Given the description of an element on the screen output the (x, y) to click on. 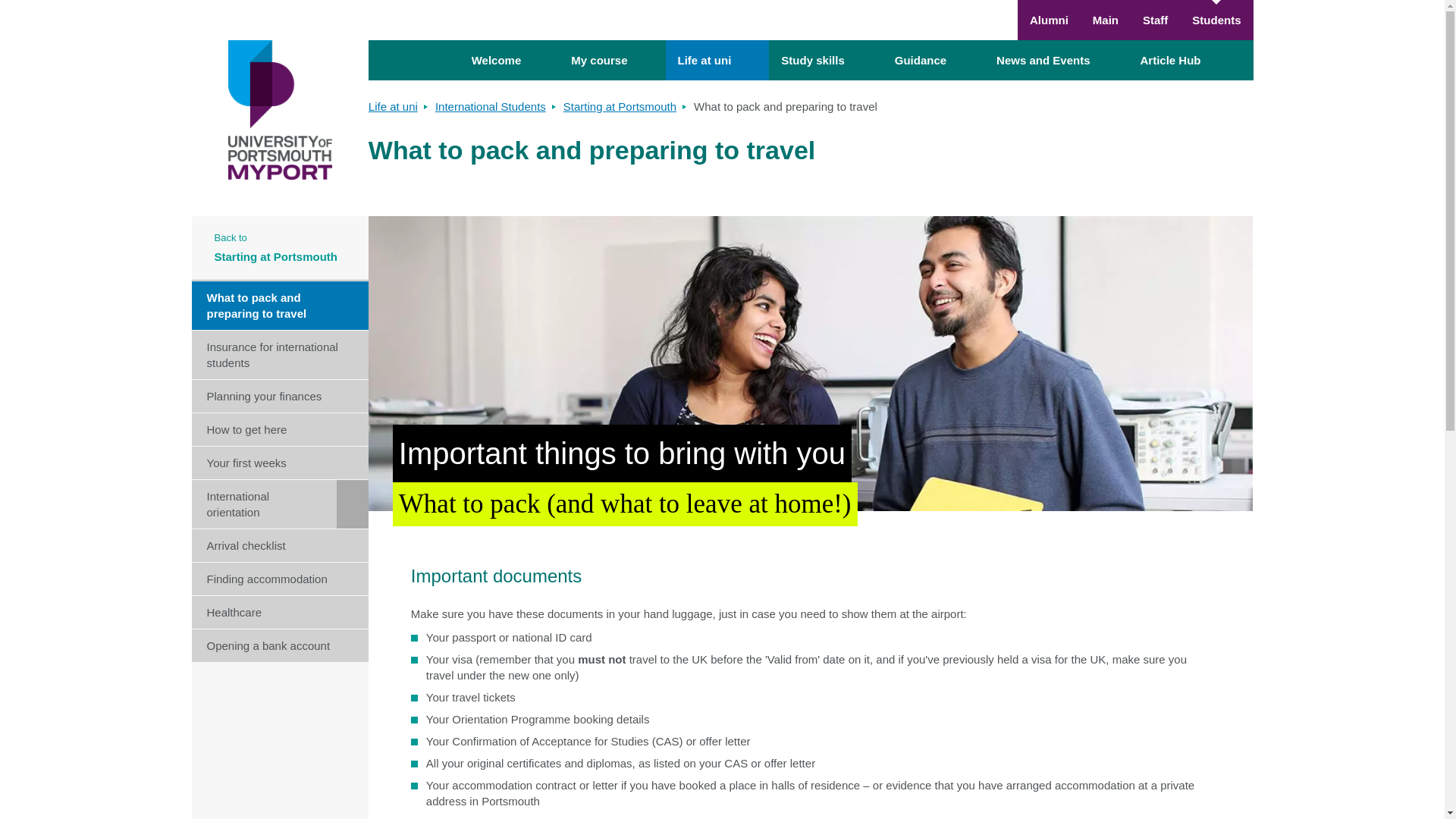
Skip to main content (721, 9)
Students (1215, 20)
Alumni (1048, 20)
My course (612, 60)
Life at uni (717, 60)
Staff (1155, 20)
Welcome (509, 60)
Main (1105, 20)
